Given the description of an element on the screen output the (x, y) to click on. 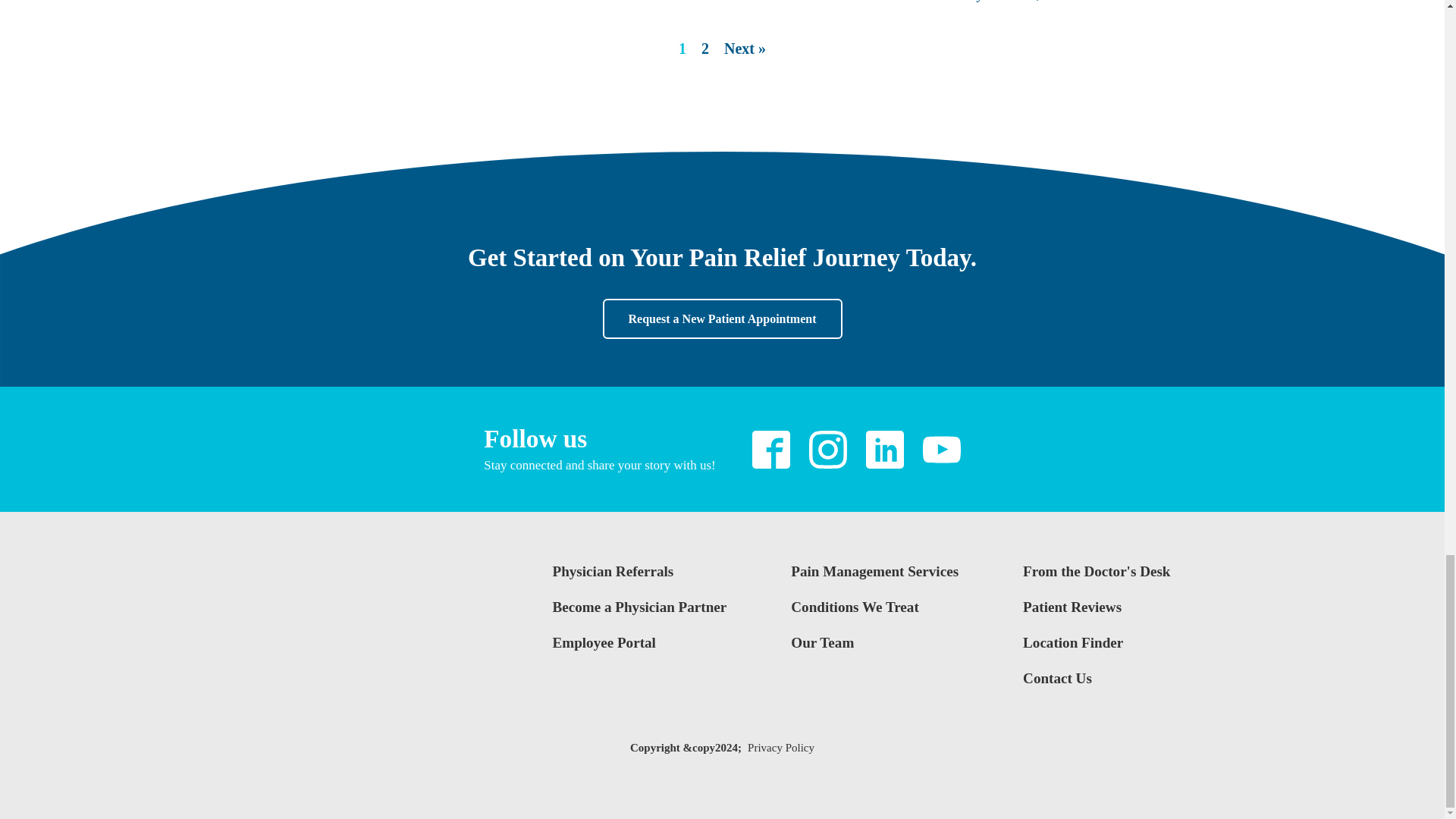
Patient Reviews (1096, 613)
Contact Us (1096, 684)
Request a New Patient Appointment (721, 318)
From the Doctor's Desk (1096, 578)
Our Team (874, 649)
Become a Physician Partner (638, 613)
Privacy Policy (780, 747)
Location Finder (1096, 649)
Pain Management Services (874, 578)
Physician Referrals (638, 578)
Employee Portal (638, 649)
Conditions We Treat (874, 613)
